Given the description of an element on the screen output the (x, y) to click on. 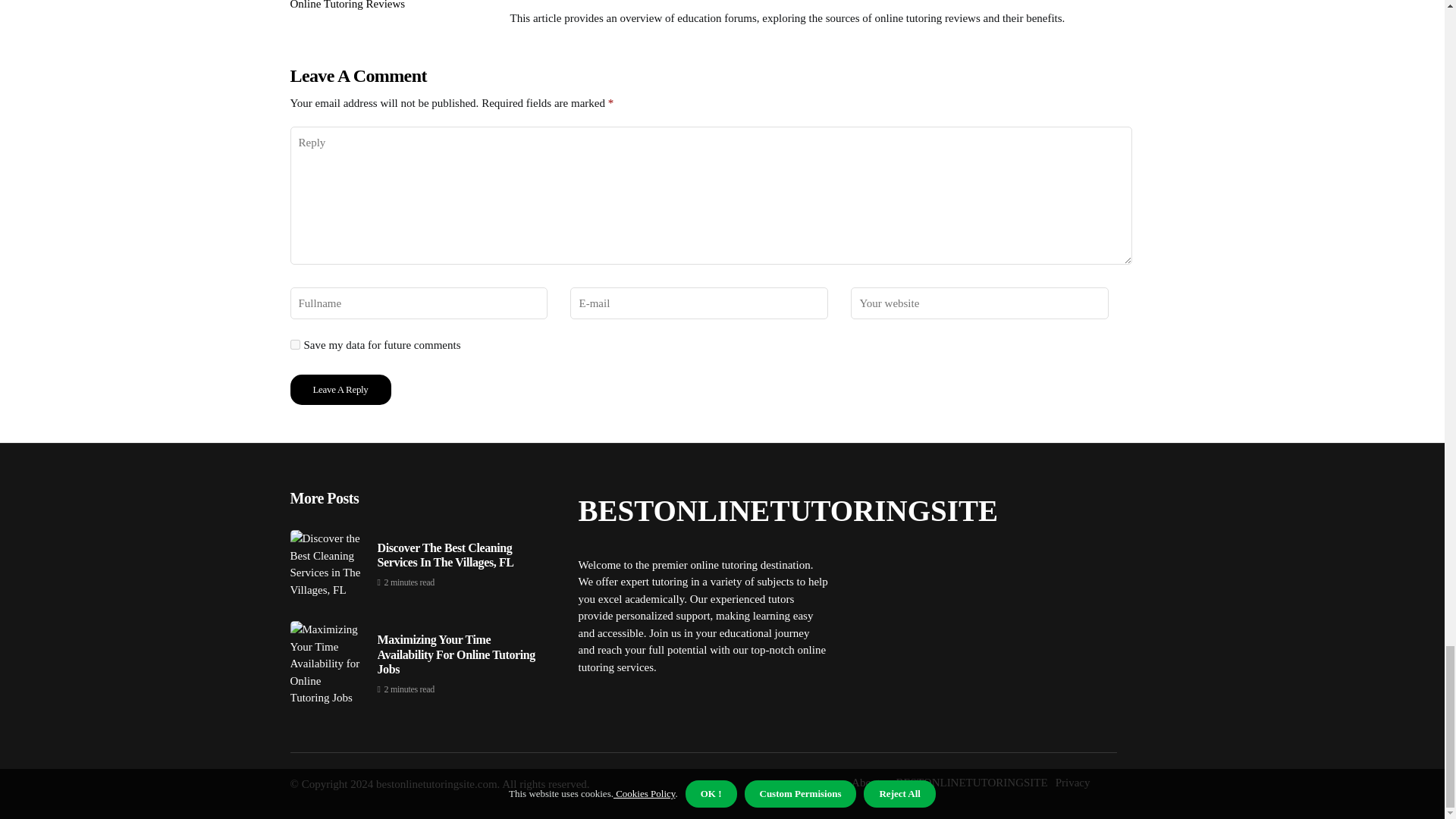
yes (294, 344)
Posts by Joe Robbins (537, 1)
Leave a Reply (339, 389)
